Given the description of an element on the screen output the (x, y) to click on. 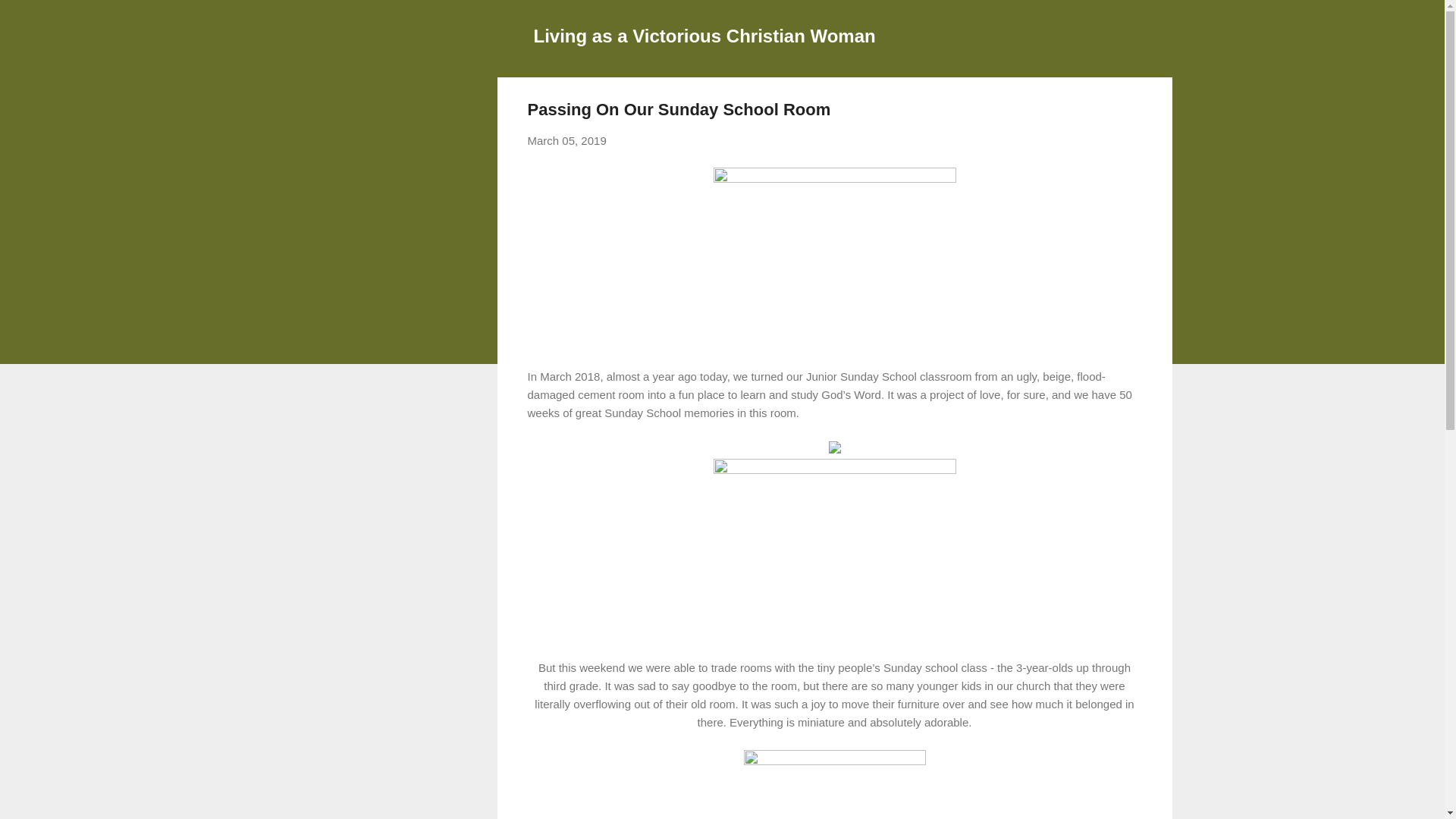
Search (29, 18)
March 05, 2019 (567, 140)
Living as a Victorious Christian Woman (705, 35)
permanent link (567, 140)
